Given the description of an element on the screen output the (x, y) to click on. 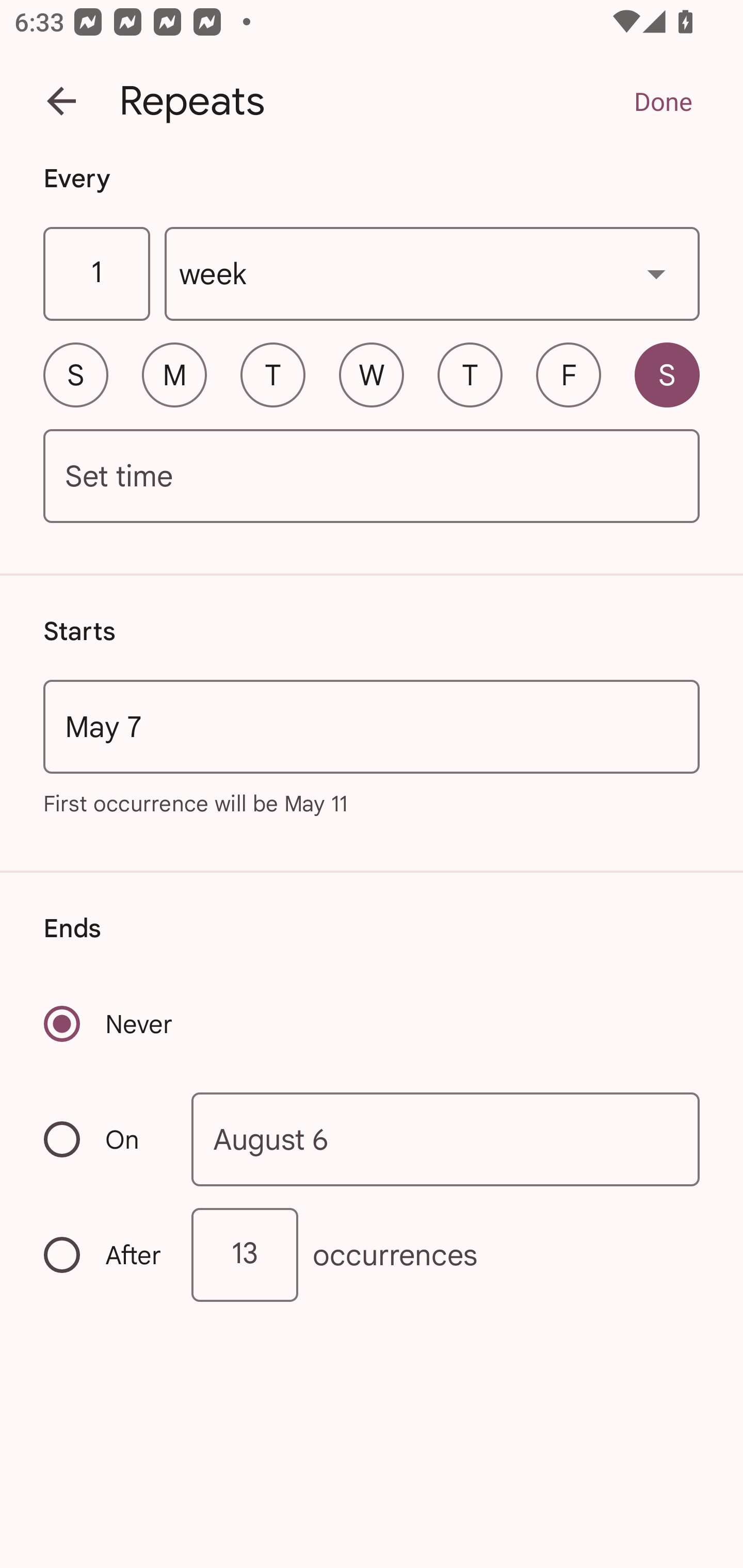
Back (61, 101)
Done (663, 101)
1 (96, 274)
week (431, 274)
Show dropdown menu (655, 273)
S Sunday (75, 374)
M Monday (173, 374)
T Tuesday (272, 374)
W Wednesday (371, 374)
T Thursday (469, 374)
F Friday (568, 374)
S Saturday, selected (666, 374)
Set time (371, 476)
May 7 (371, 726)
Never Recurrence never ends (109, 1023)
August 6 (445, 1139)
On Recurrence ends on a specific date (104, 1138)
13 (244, 1254)
